Given the description of an element on the screen output the (x, y) to click on. 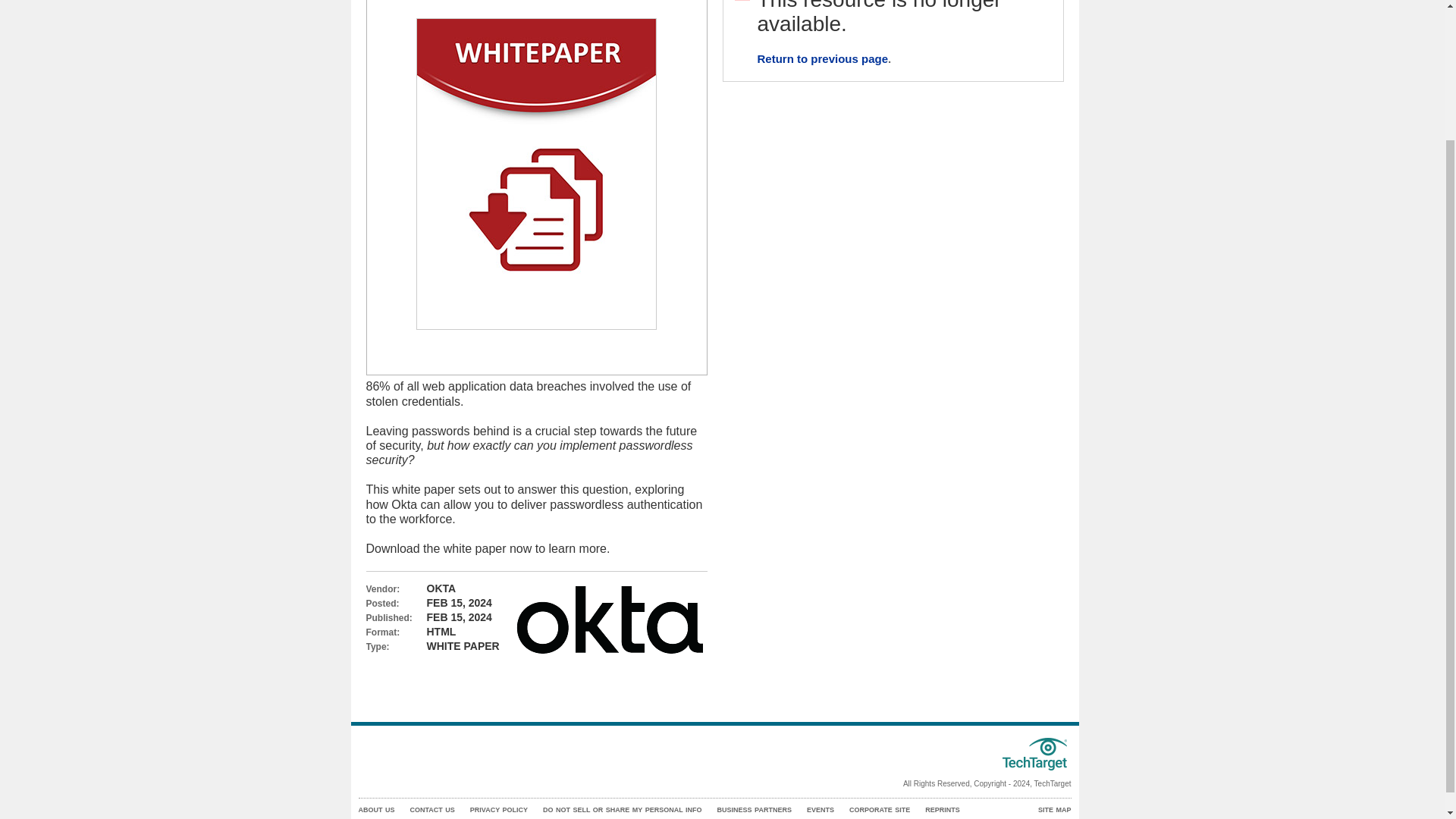
PRIVACY POLICY (498, 809)
BUSINESS PARTNERS (754, 809)
Return to previous page (822, 58)
CONTACT US (431, 809)
REPRINTS (941, 809)
SITE MAP (1054, 809)
CORPORATE SITE (879, 809)
EVENTS (820, 809)
DO NOT SELL OR SHARE MY PERSONAL INFO (622, 809)
ABOUT US (376, 809)
